Given the description of an element on the screen output the (x, y) to click on. 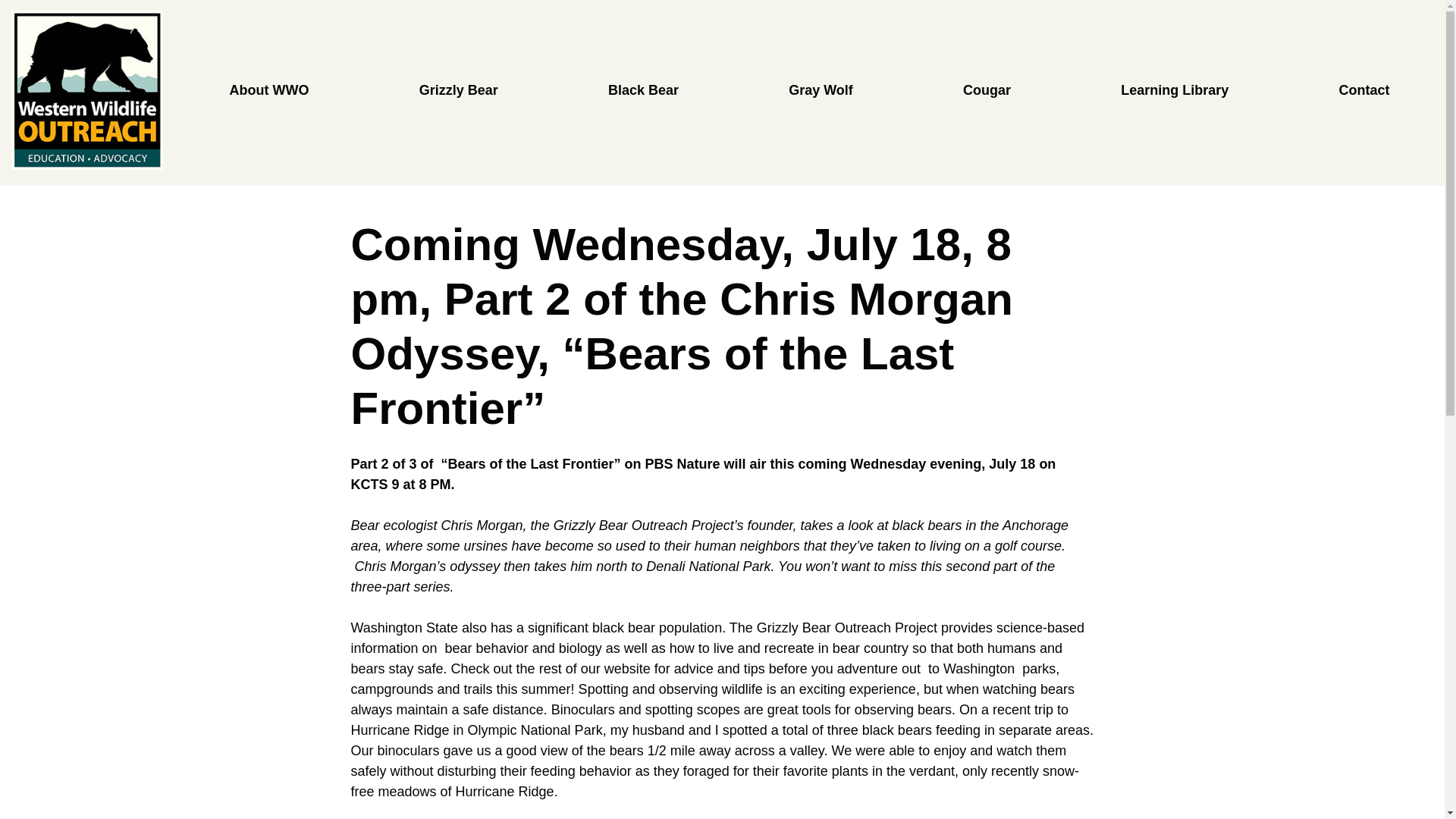
Black Bear (642, 91)
Gray Wolf (820, 91)
Cougar (987, 91)
Contact (1363, 91)
Grizzly Bear (458, 91)
Learning Library (1174, 91)
About WWO (268, 91)
